Given the description of an element on the screen output the (x, y) to click on. 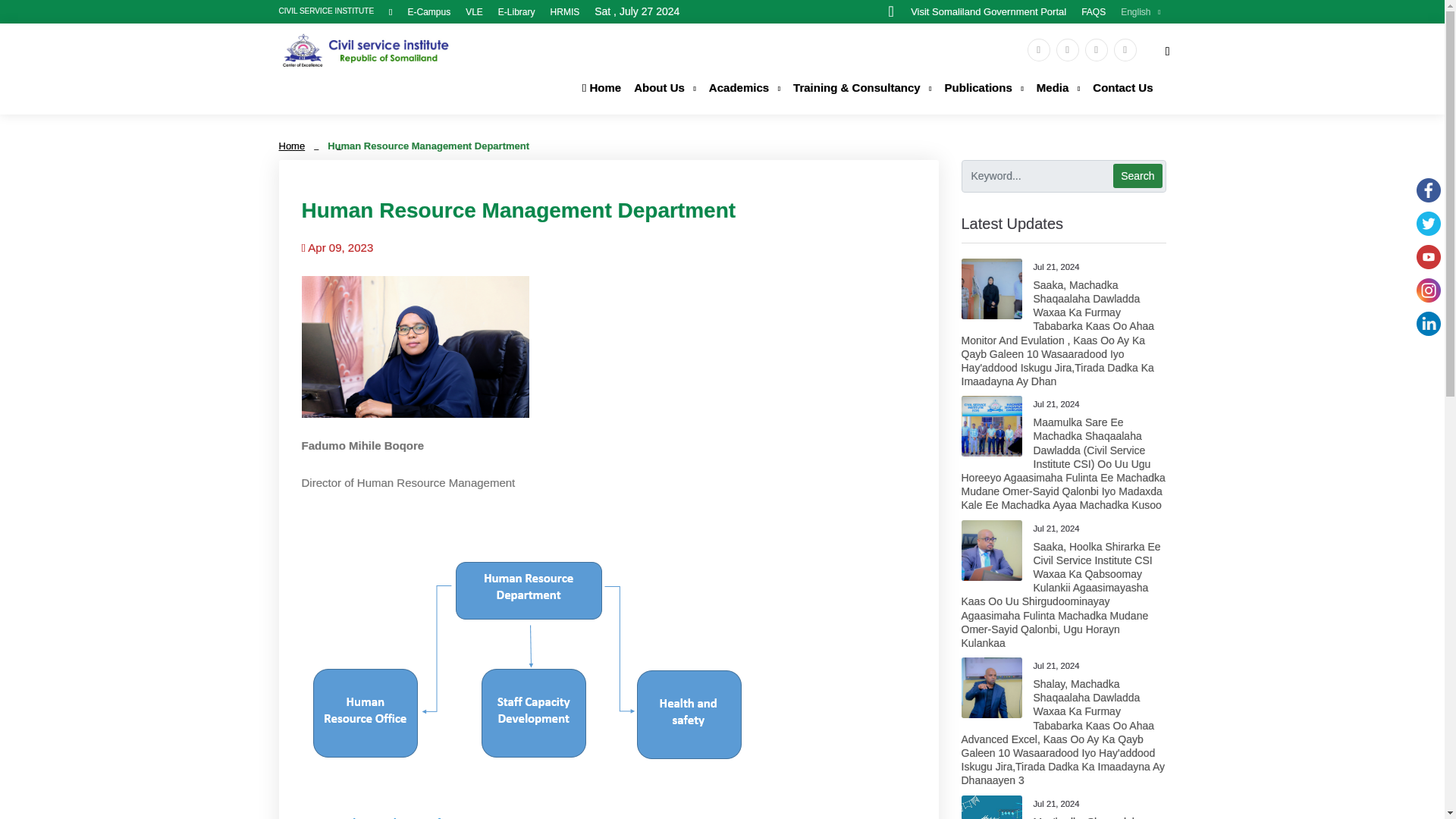
Visit Somaliland Government Portal (977, 11)
FAQS (1093, 11)
English (1135, 11)
Search (1137, 175)
About Us (664, 87)
HRMIS (564, 11)
Civil Service Institute (365, 50)
Civil Service Institute (365, 49)
E-Campus (428, 11)
VLE (474, 11)
E-Library (516, 11)
Academics (744, 87)
